Given the description of an element on the screen output the (x, y) to click on. 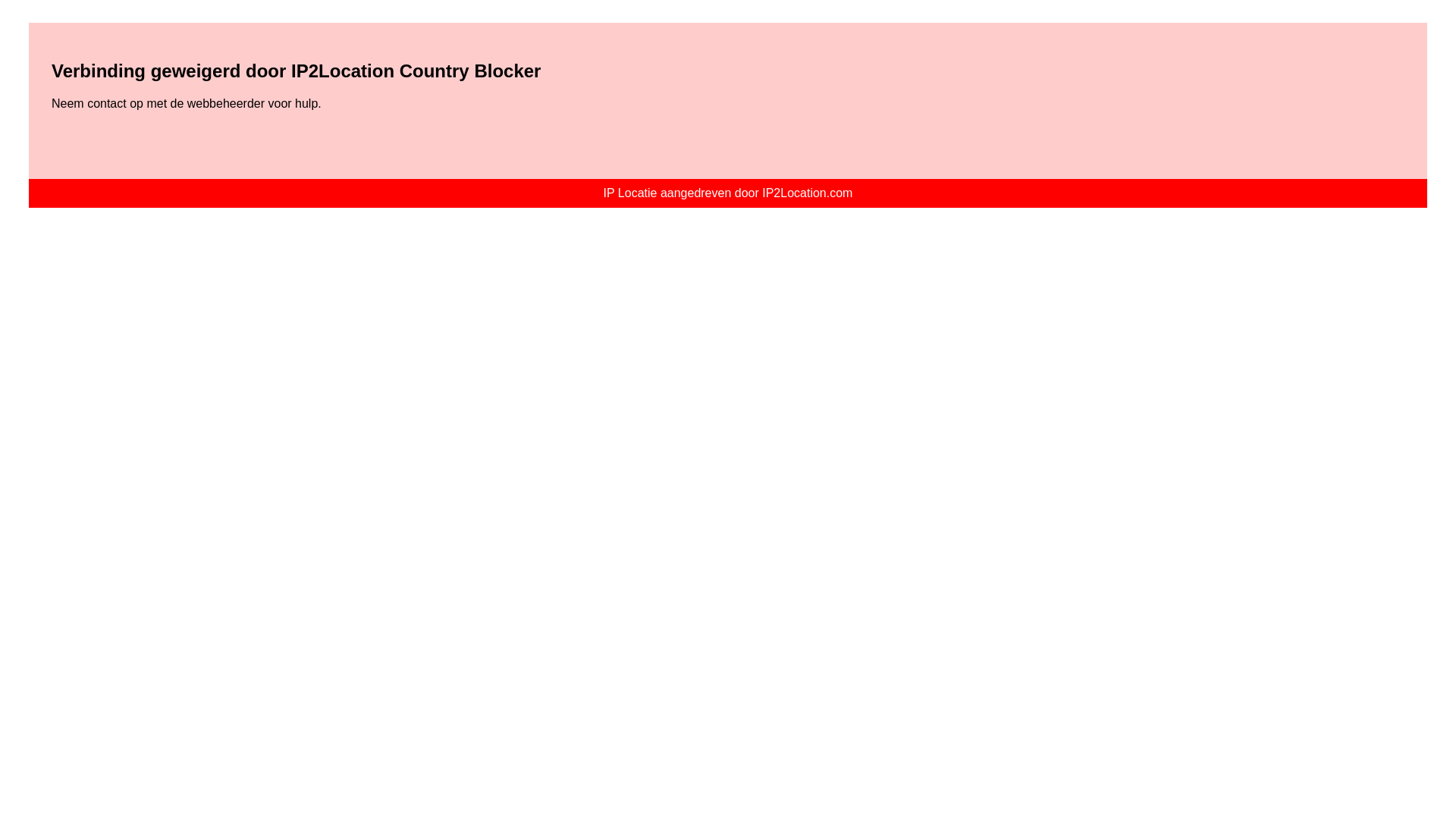
IP Locatie aangedreven door IP2Location.com Element type: text (728, 192)
